Given the description of an element on the screen output the (x, y) to click on. 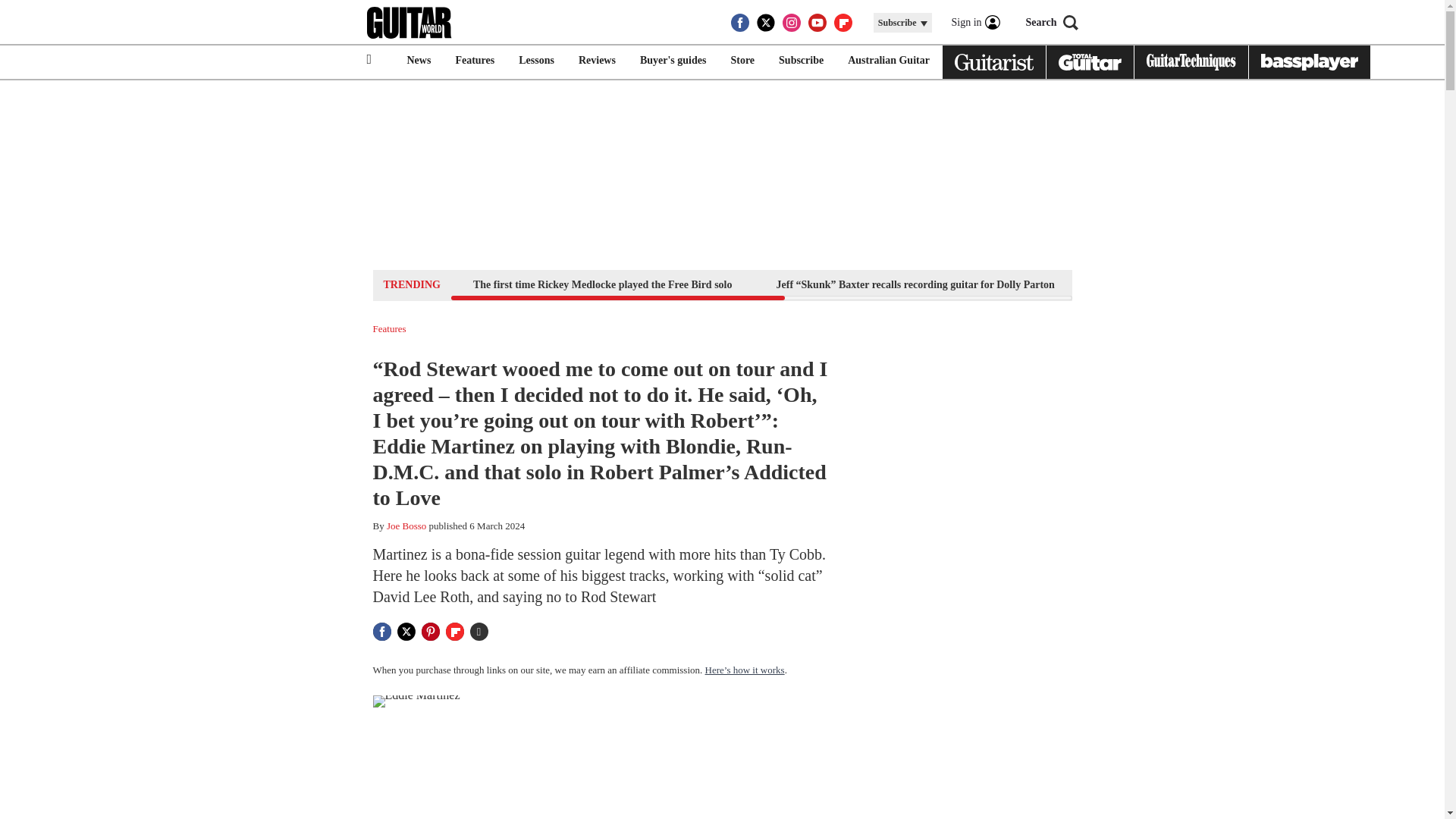
News (418, 60)
Store (742, 60)
The first time Rickey Medlocke played the Free Bird solo (602, 284)
Subscribe (801, 60)
Australian Guitar (888, 60)
What it was like to teach John Mayer (1183, 284)
Features (474, 60)
Joe Bosso (406, 525)
Features (389, 327)
Lessons (536, 60)
